Given the description of an element on the screen output the (x, y) to click on. 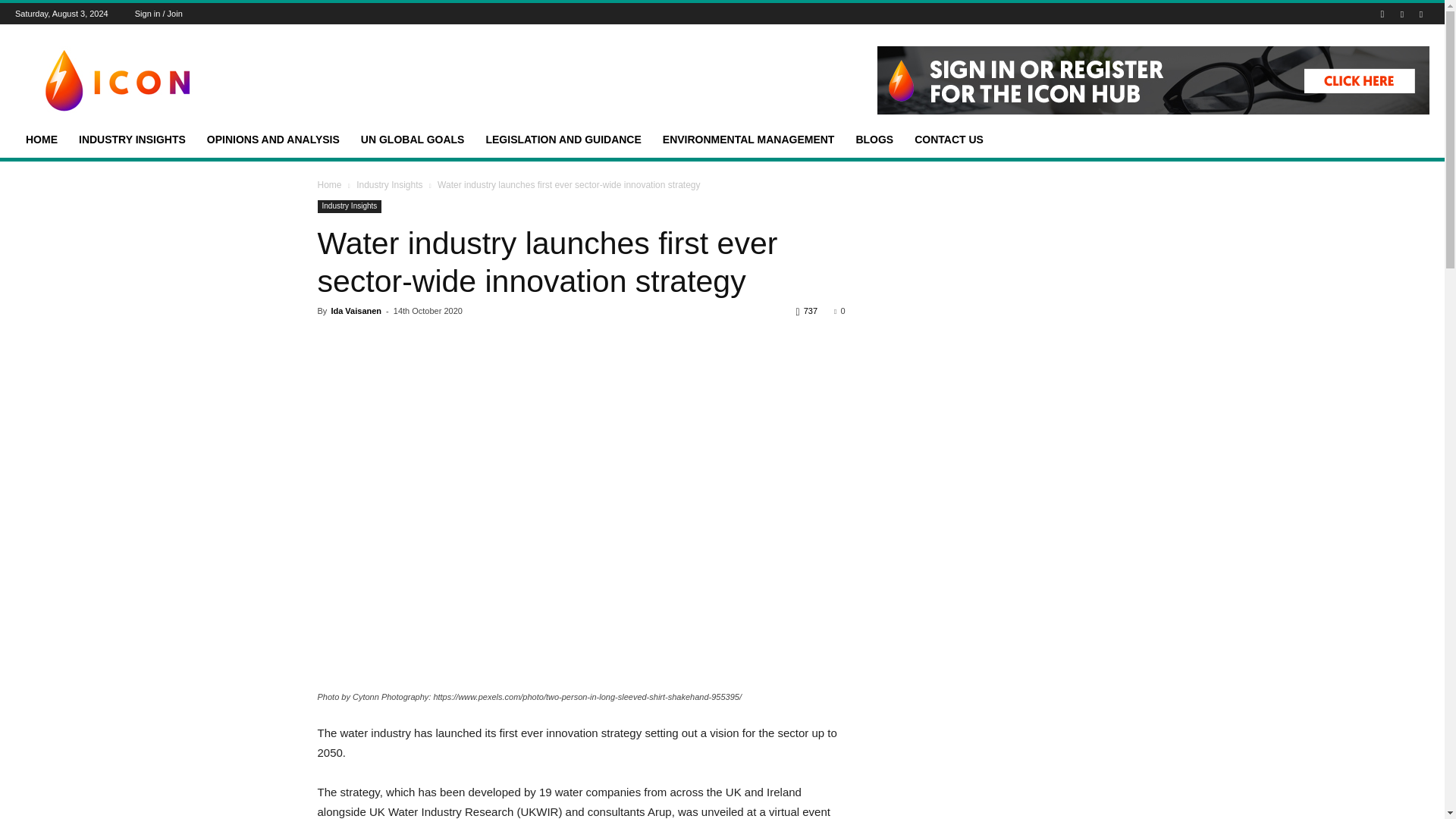
HOME (41, 139)
INDUSTRY INSIGHTS (132, 139)
Search (1379, 67)
